Given the description of an element on the screen output the (x, y) to click on. 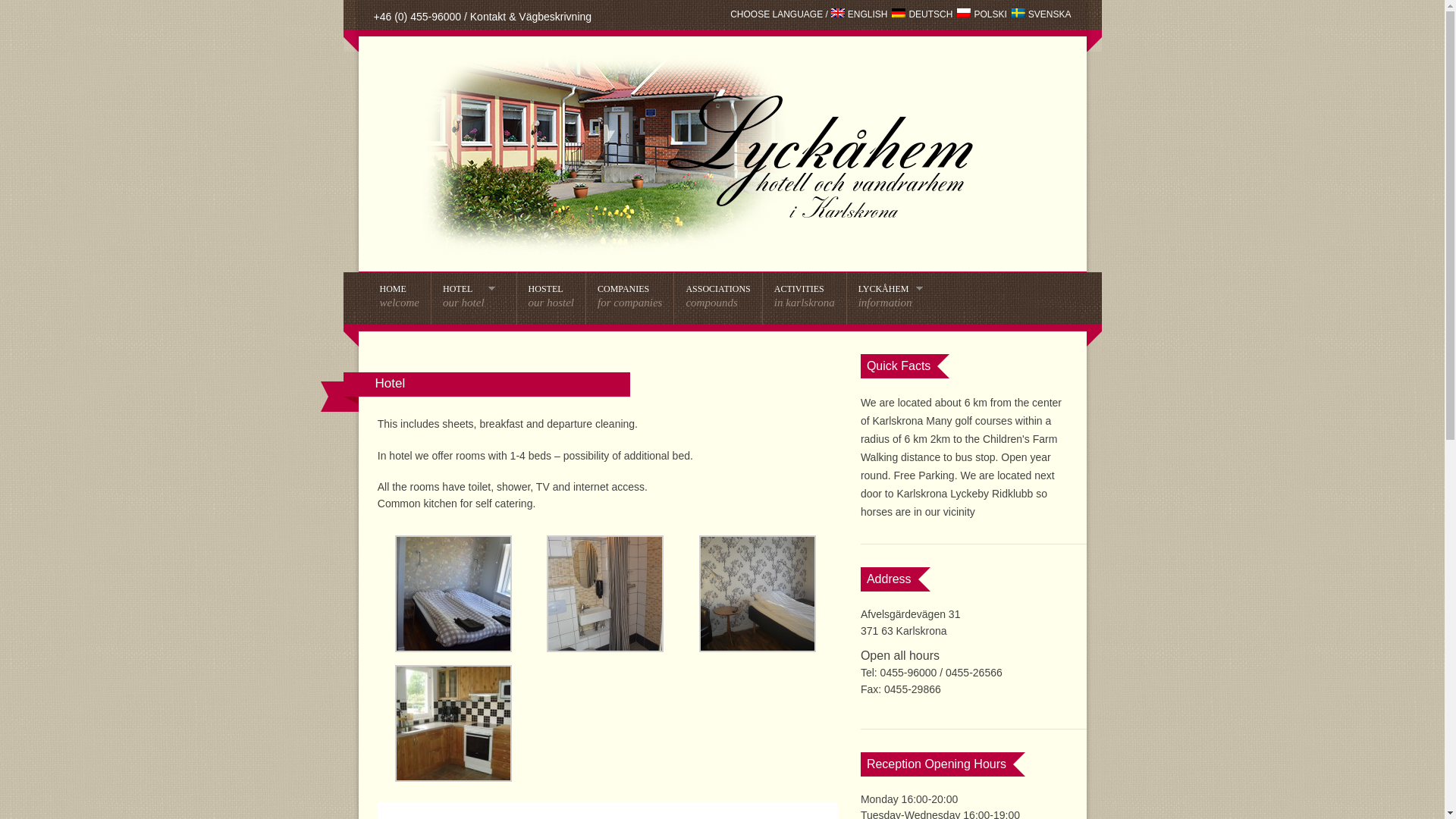
For companies (629, 297)
SVENSKA (804, 297)
Information (1041, 14)
DEUTSCH (896, 297)
CHOOSE LANGUAGE (717, 297)
compounds (921, 14)
POLSKI (776, 14)
ENGLISH (717, 297)
in karlskrona (981, 14)
our Hotel (629, 297)
